Given the description of an element on the screen output the (x, y) to click on. 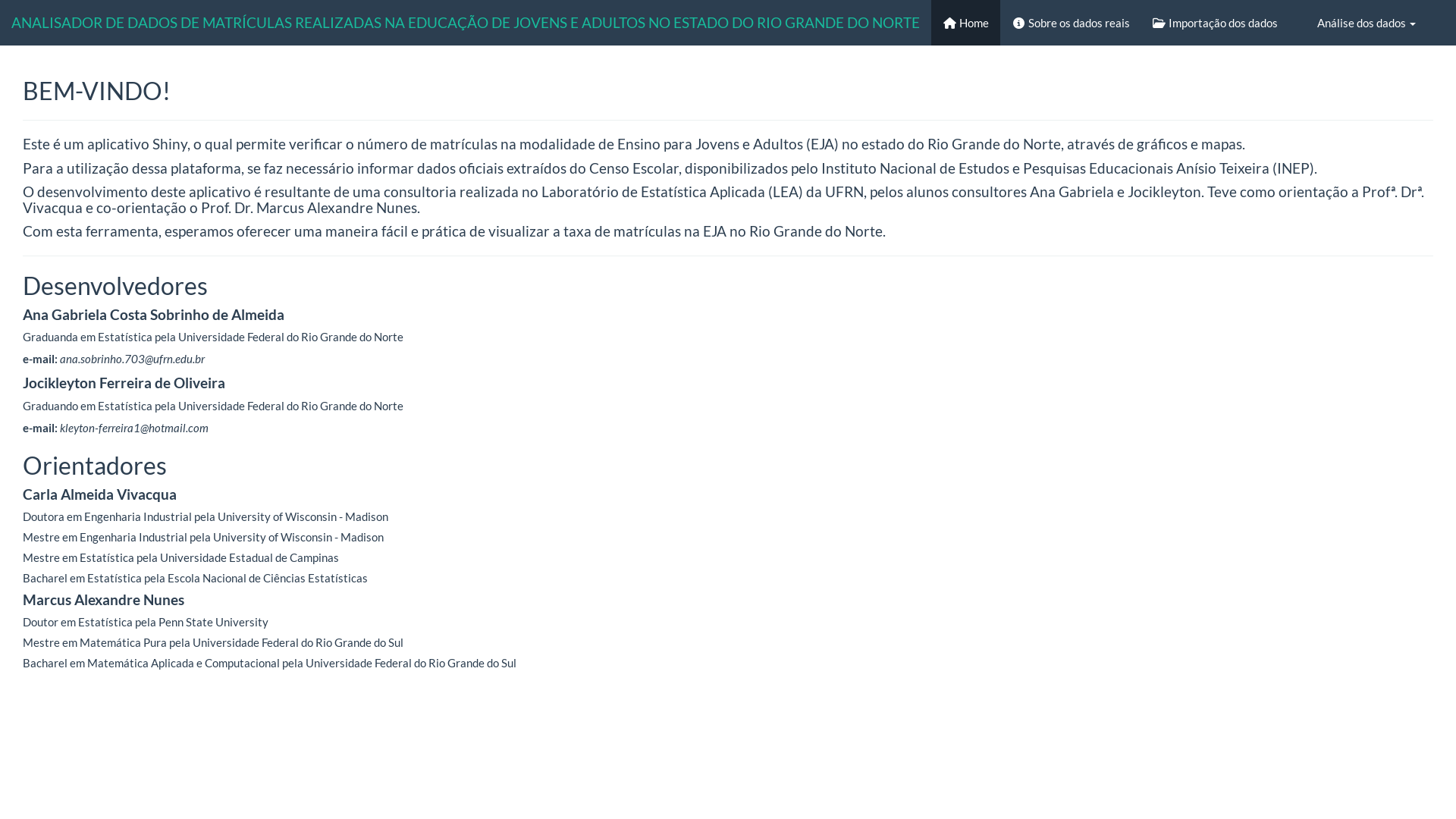
Home Element type: text (965, 22)
Sobre os dados reais Element type: text (1070, 22)
